Given the description of an element on the screen output the (x, y) to click on. 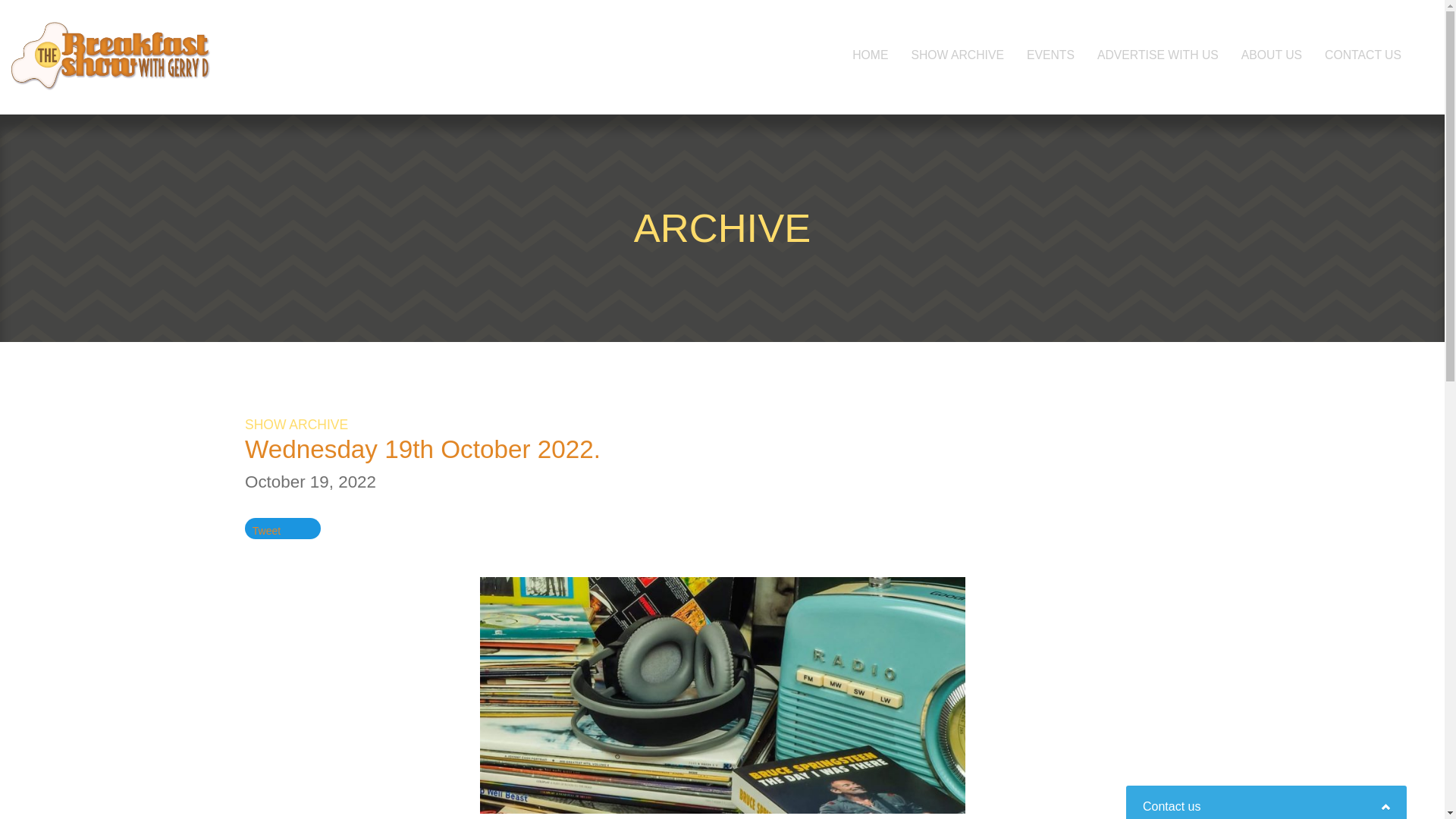
ABOUT US (1271, 55)
HOME (870, 55)
CONTACT US (1362, 55)
Tweet (266, 530)
EVENTS (1050, 55)
ADVERTISE WITH US (1158, 55)
SHOW ARCHIVE (956, 55)
